Given the description of an element on the screen output the (x, y) to click on. 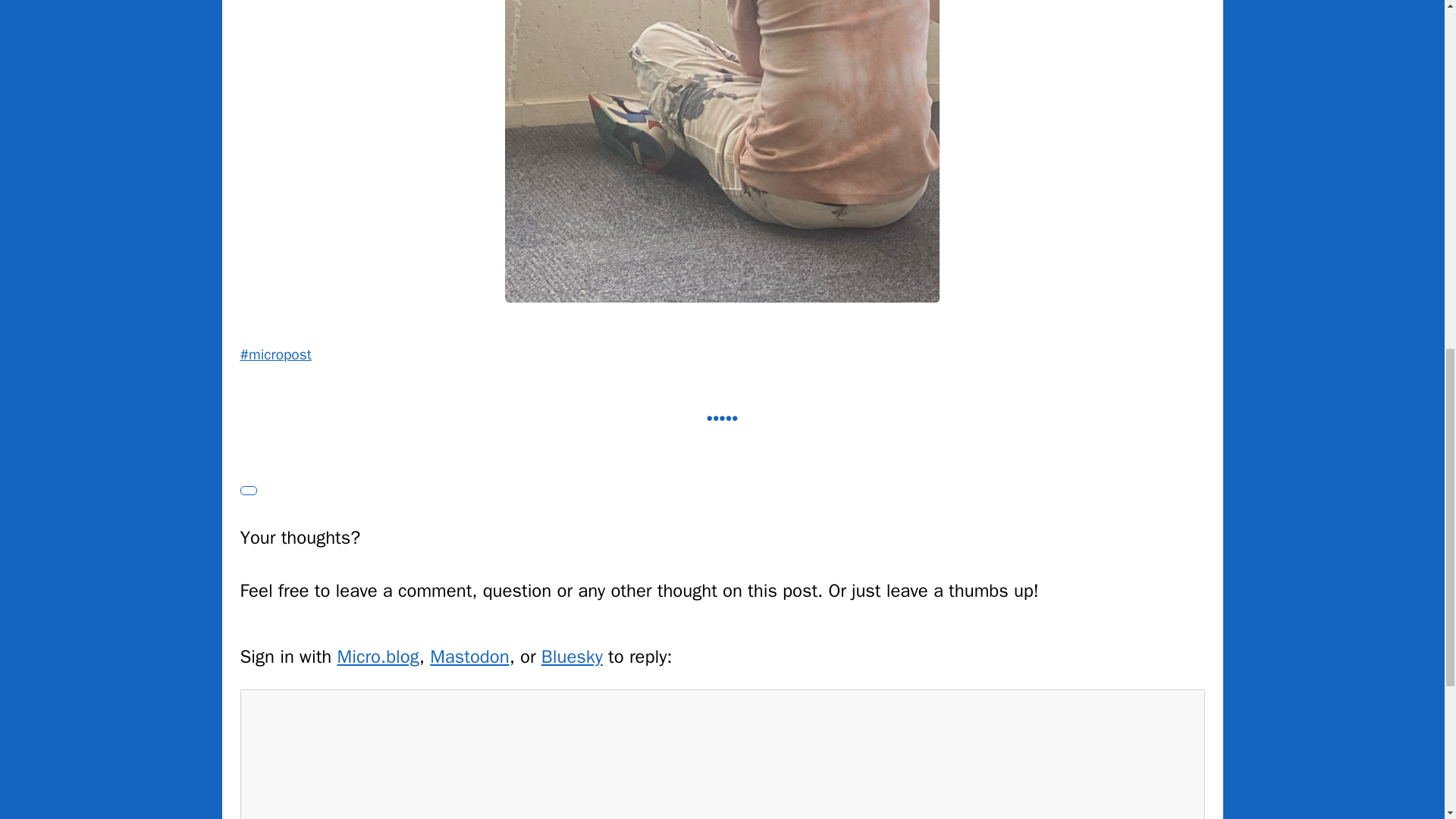
Mastodon (468, 656)
Micro.blog (377, 656)
Bluesky (571, 656)
